Given the description of an element on the screen output the (x, y) to click on. 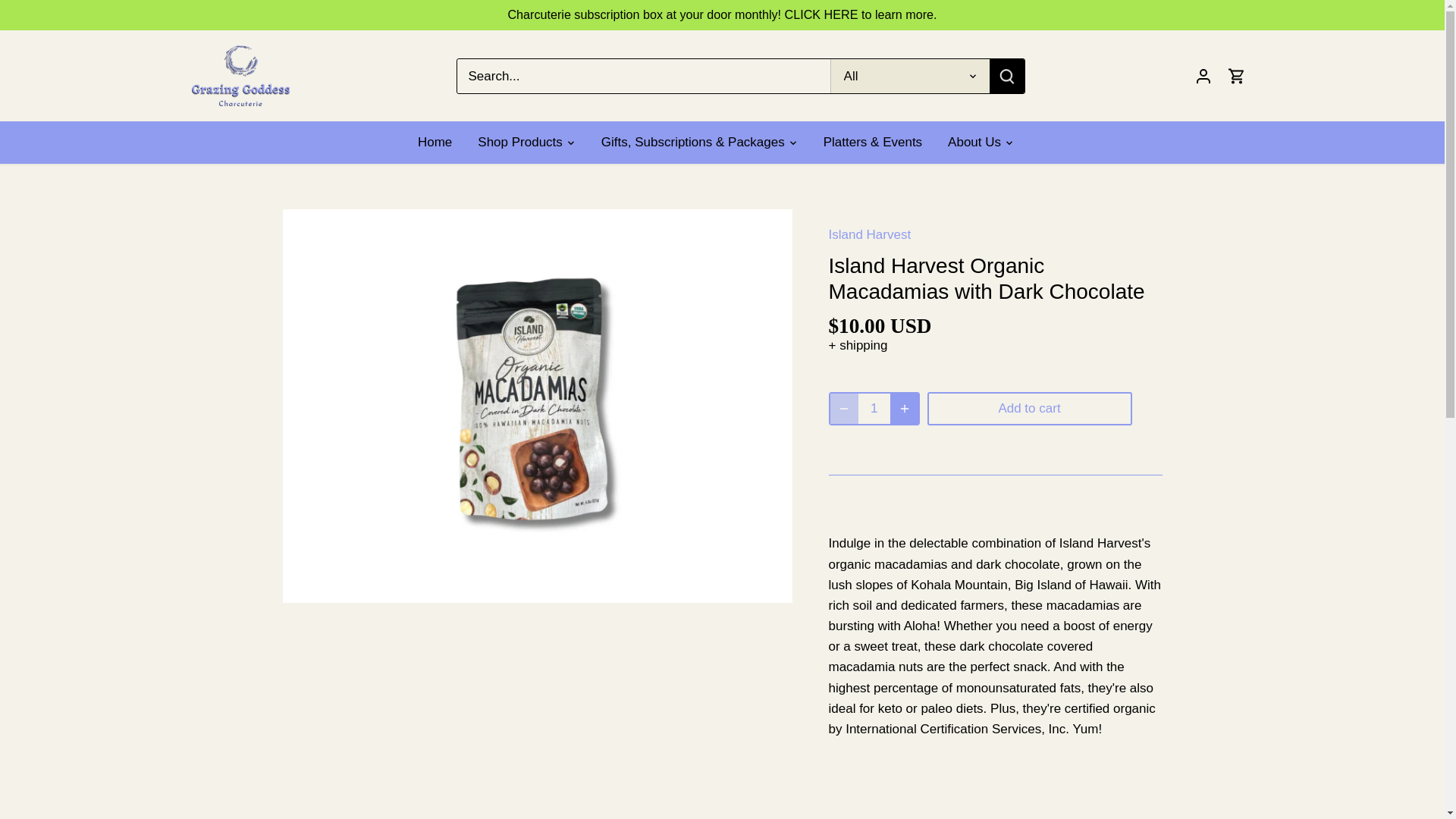
1 (875, 409)
Home (440, 142)
Shop Products (519, 142)
